Given the description of an element on the screen output the (x, y) to click on. 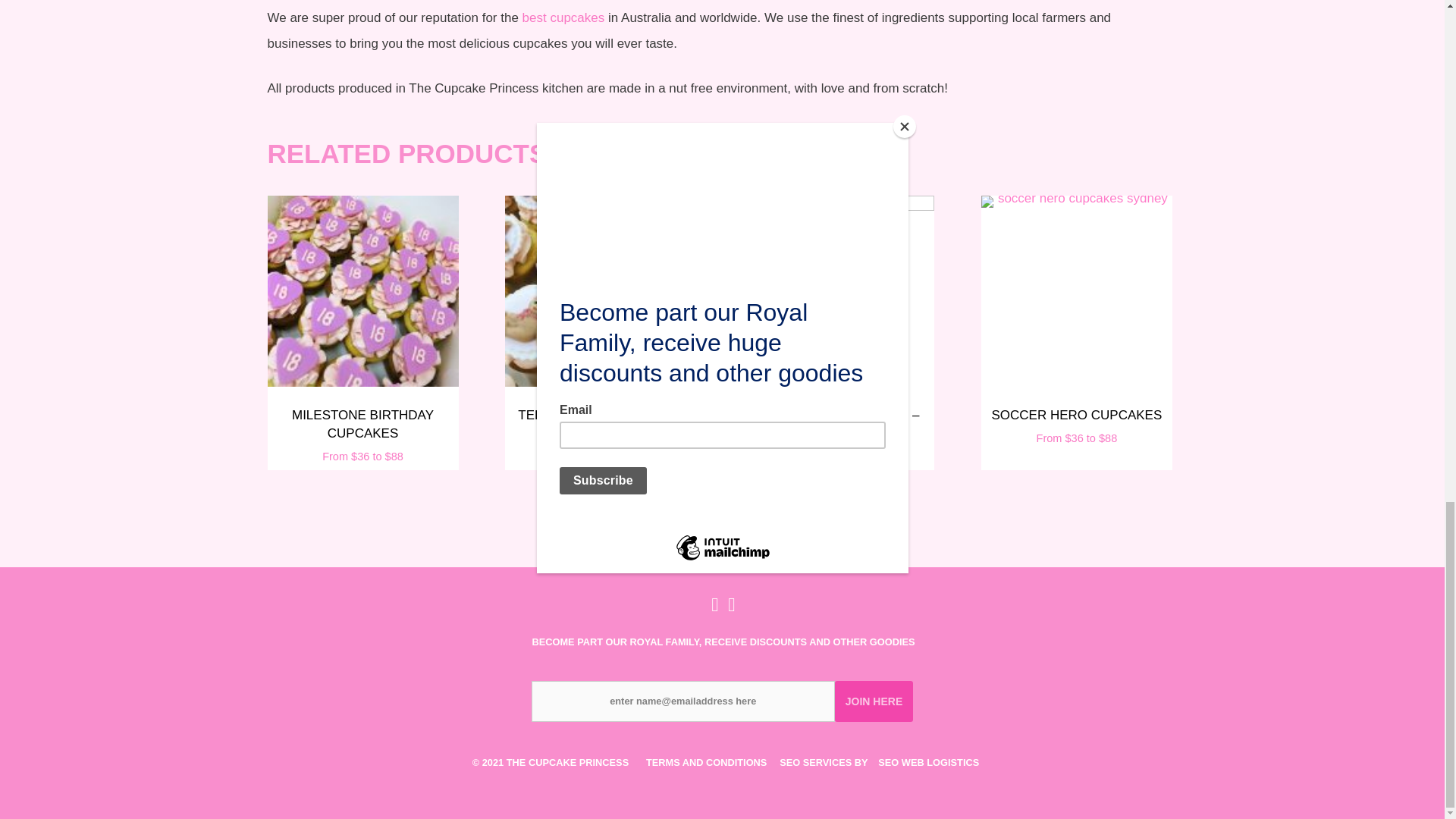
Join Here (873, 700)
The Cupcake Princess on Facebook (714, 608)
The Cupcake Princess on Instagram (729, 608)
